Given the description of an element on the screen output the (x, y) to click on. 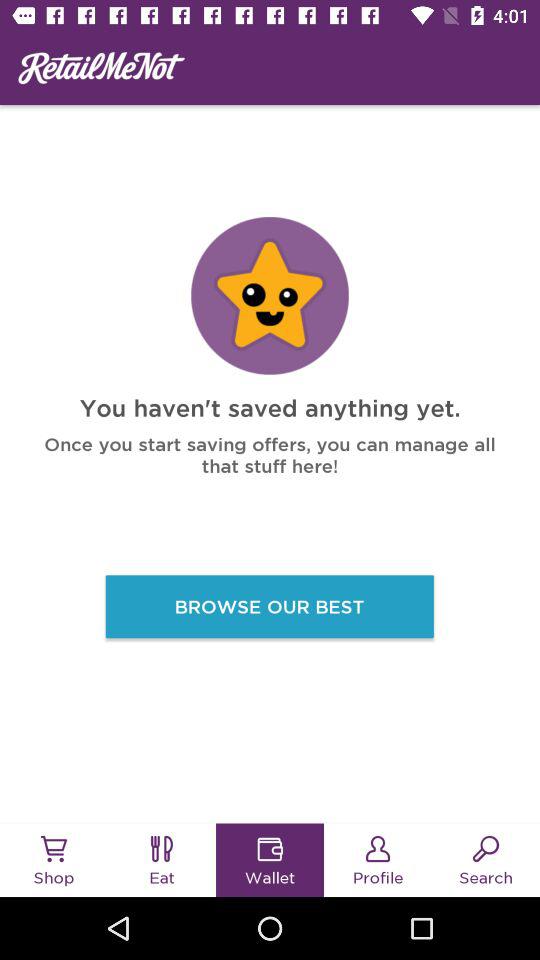
select the option eat (162, 848)
click the button on the bottom right corner of the web page (486, 859)
click the option wallet (270, 848)
click on browse our best (269, 606)
